Given the description of an element on the screen output the (x, y) to click on. 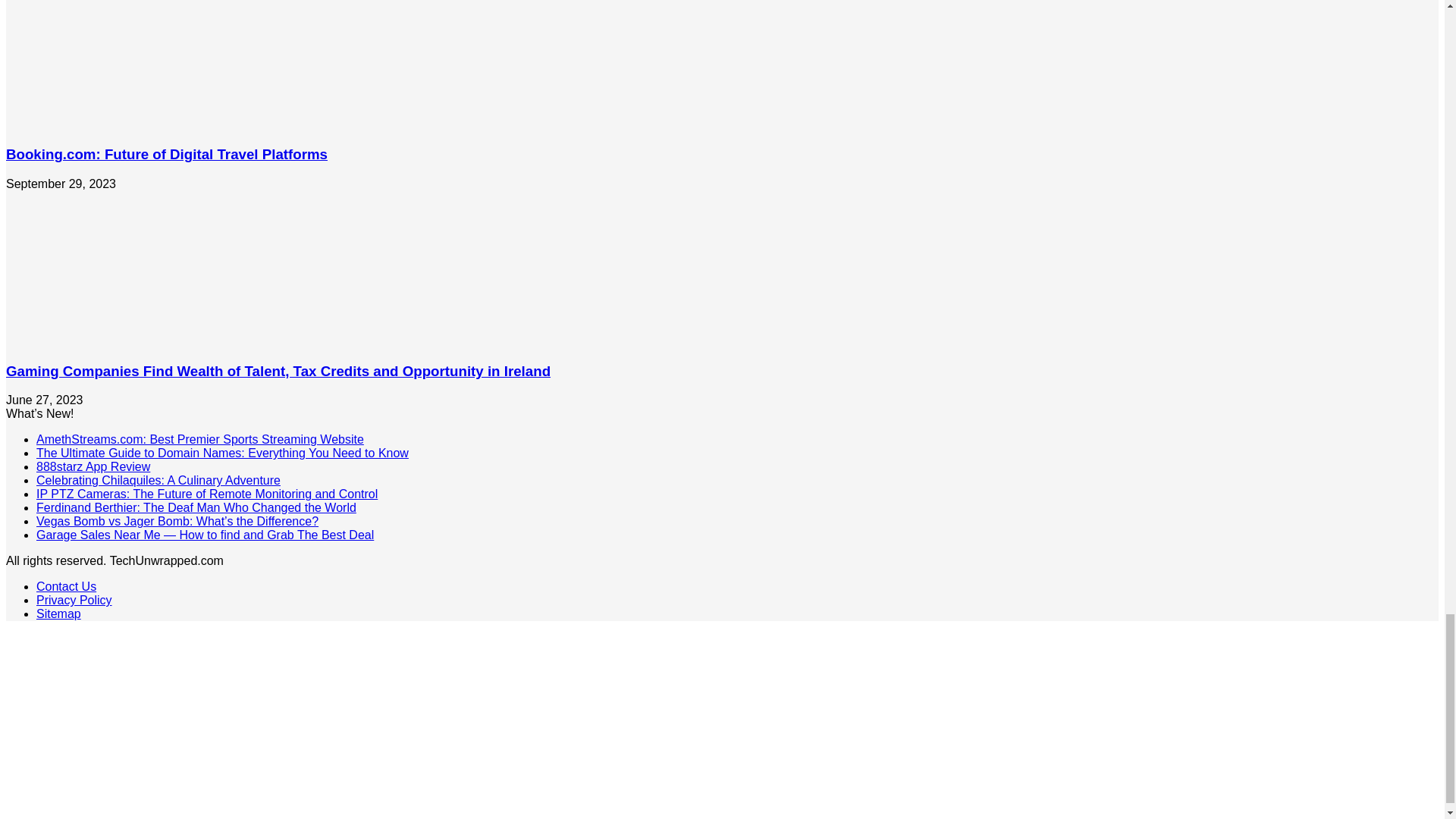
Contact Us (66, 585)
Ferdinand Berthier: The Deaf Man Who Changed the World (196, 507)
IP PTZ Cameras: The Future of Remote Monitoring and Control (206, 493)
888starz App Review (92, 466)
Booking.com: Future of Digital Travel Platforms (166, 154)
Celebrating Chilaquiles: A Culinary Adventure (158, 480)
AmethStreams.com: Best Premier Sports Streaming Website (200, 439)
